Given the description of an element on the screen output the (x, y) to click on. 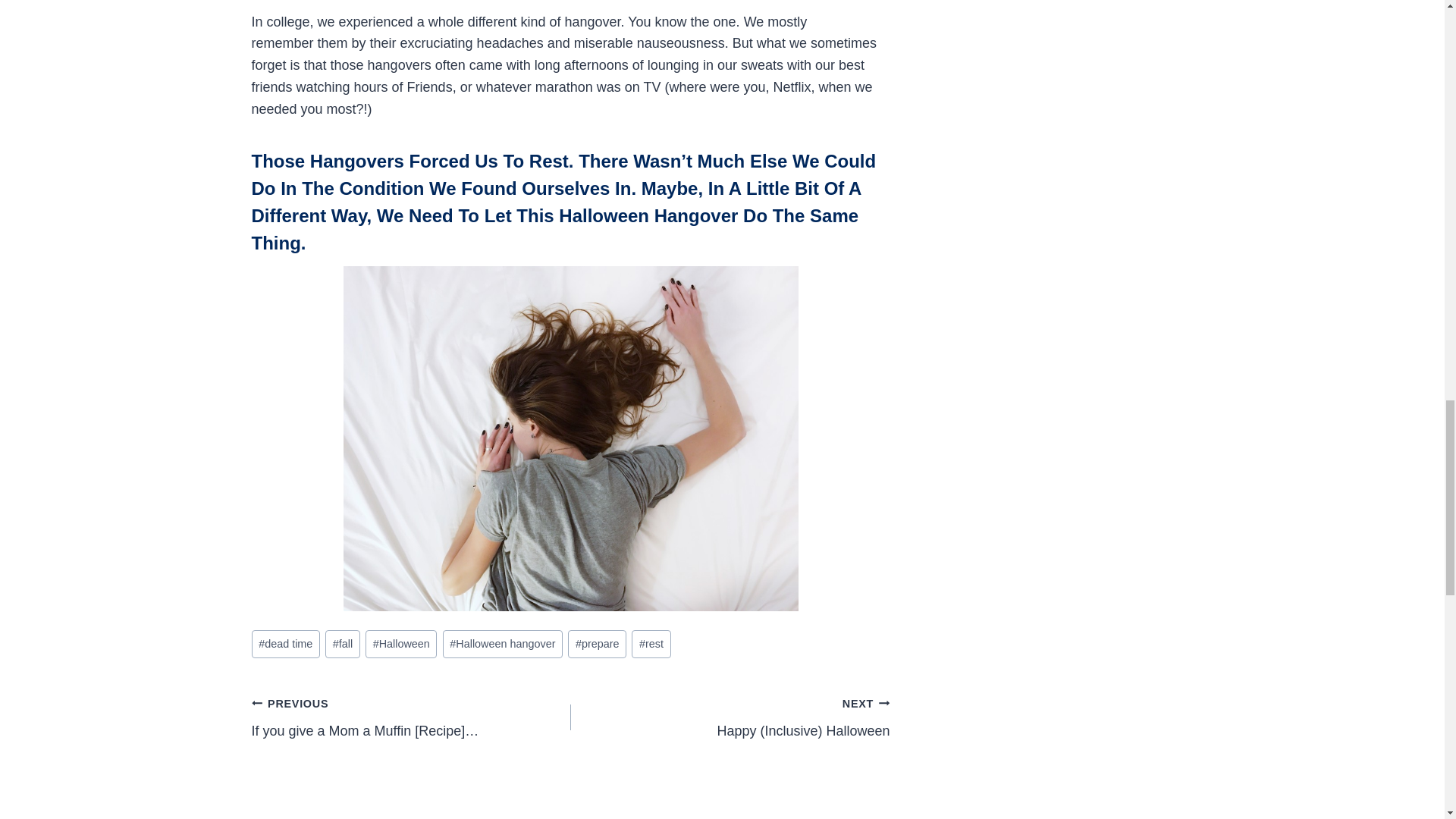
dead time (285, 643)
prepare (596, 643)
fall (341, 643)
Halloween (400, 643)
Halloween hangover (502, 643)
rest (650, 643)
